Given the description of an element on the screen output the (x, y) to click on. 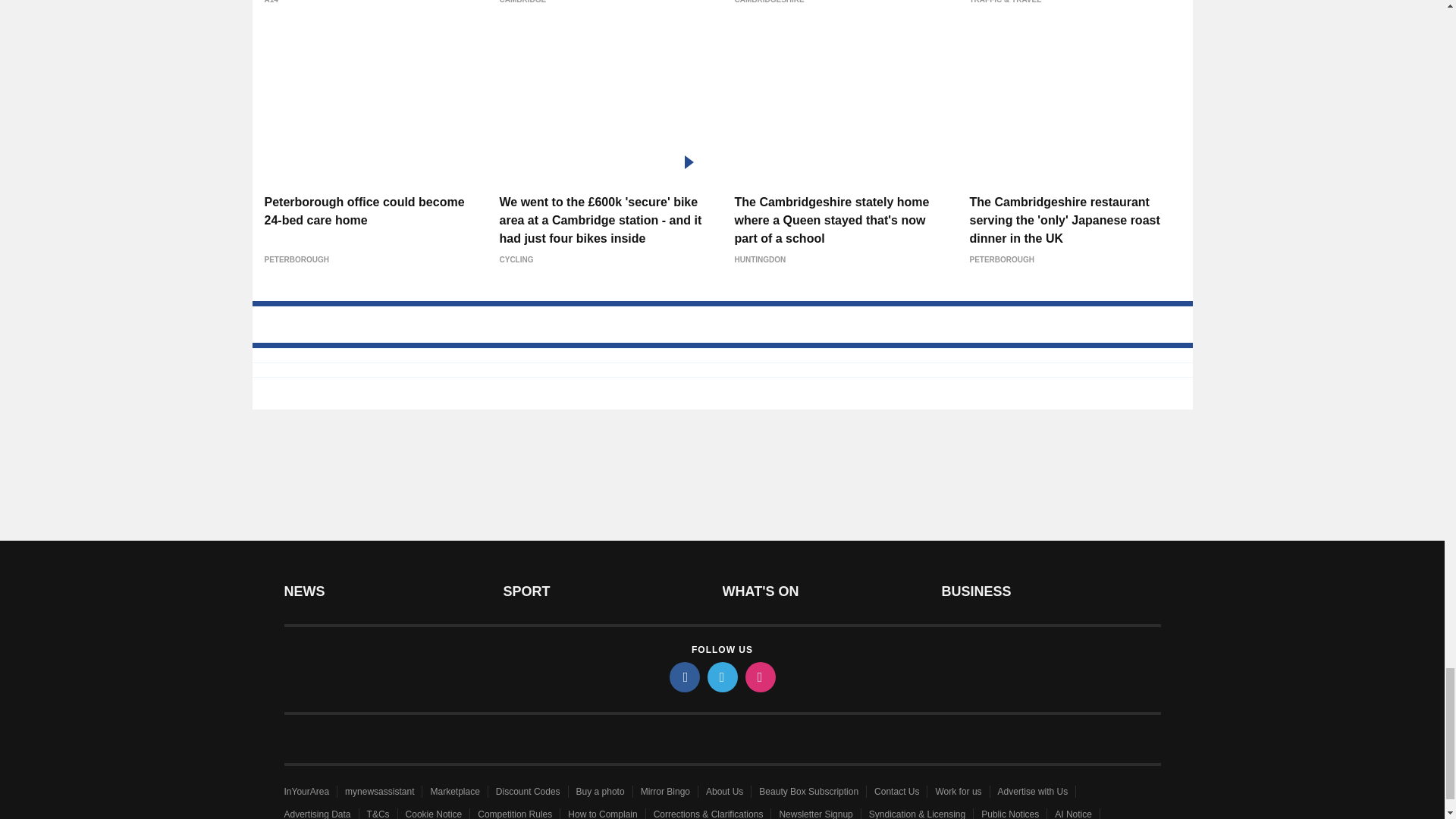
facebook (683, 676)
instagram (759, 676)
twitter (721, 676)
